Given the description of an element on the screen output the (x, y) to click on. 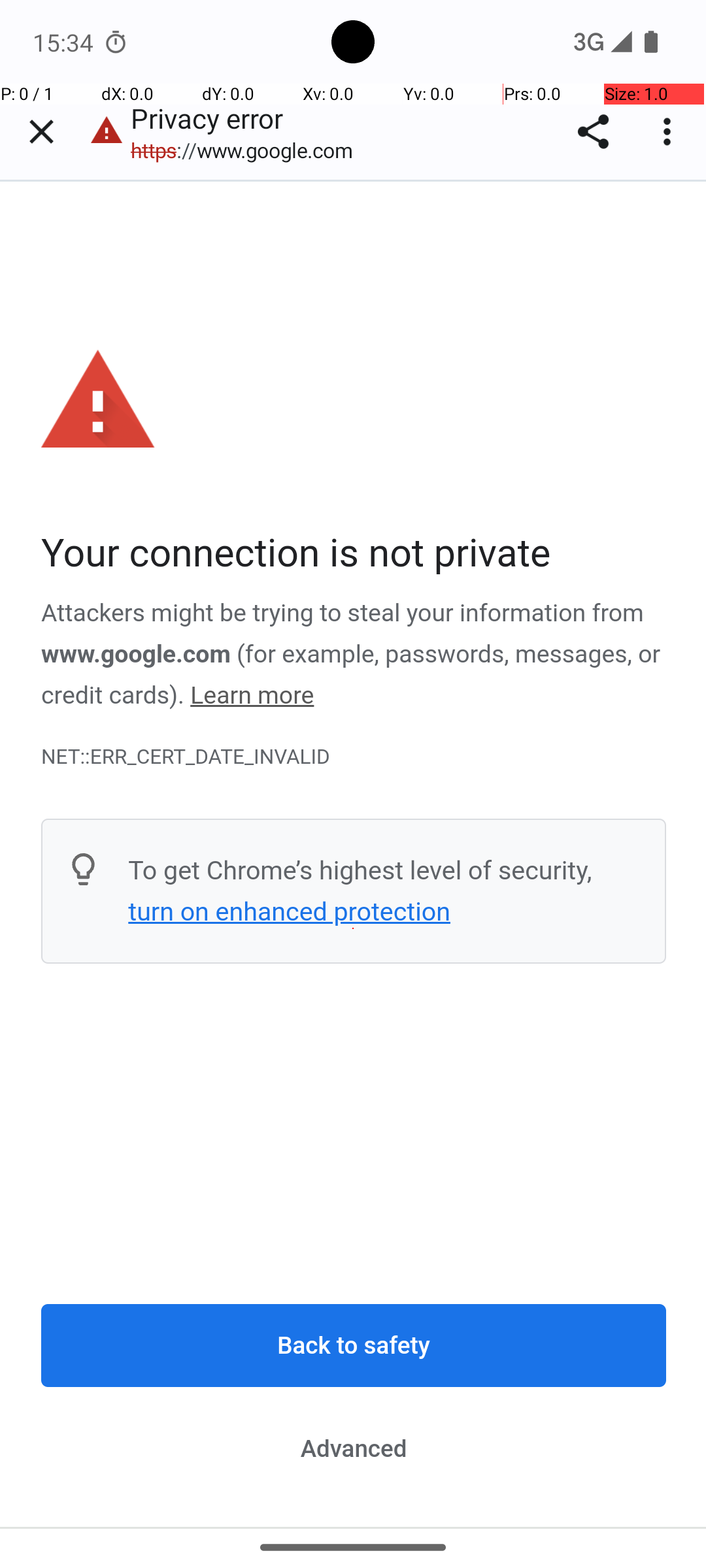
https://www.google.com Element type: android.widget.TextView (248, 149)
www.google.com Element type: android.widget.TextView (136, 653)
